Given the description of an element on the screen output the (x, y) to click on. 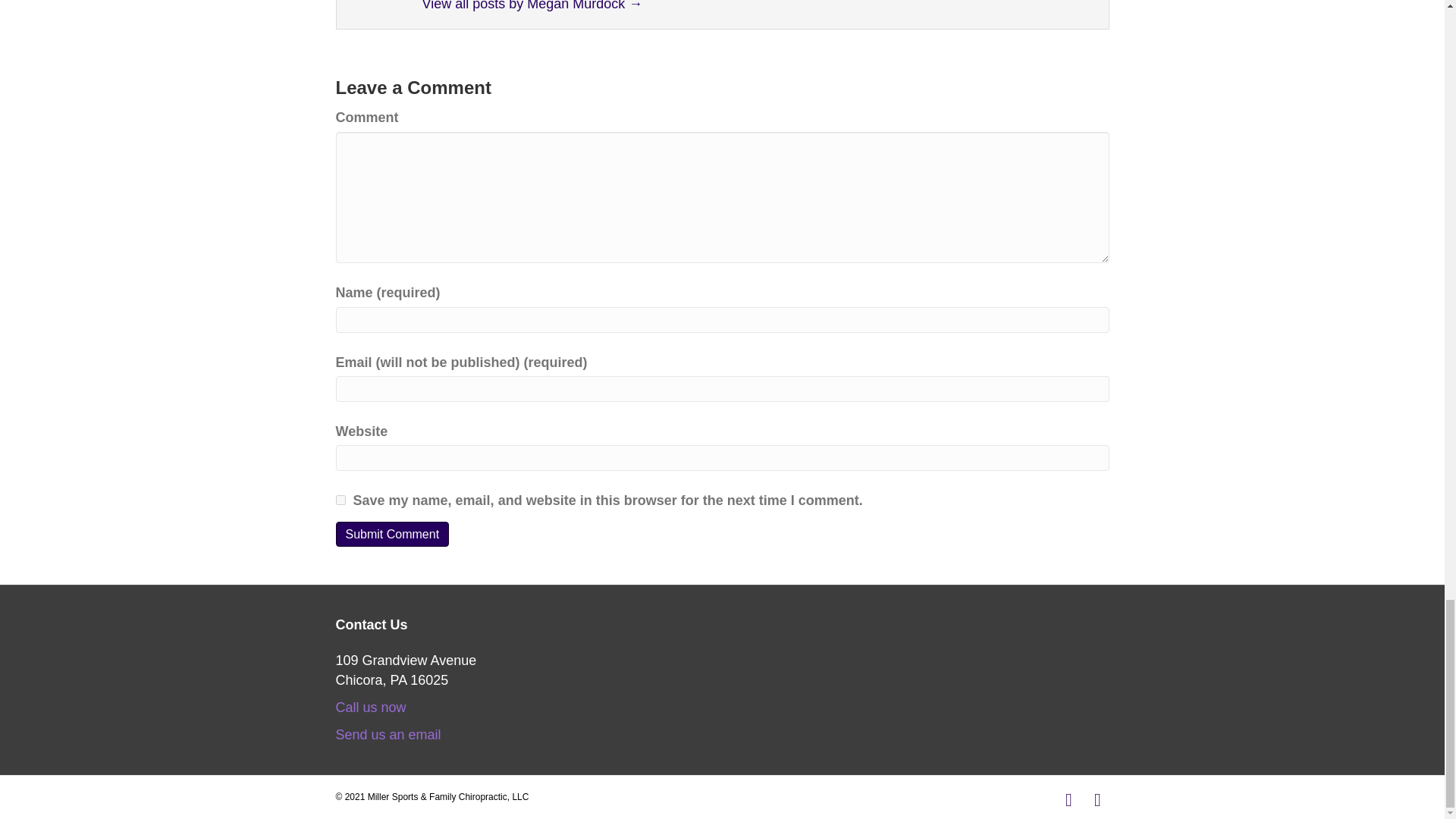
Submit Comment (391, 534)
yes (339, 500)
